Given the description of an element on the screen output the (x, y) to click on. 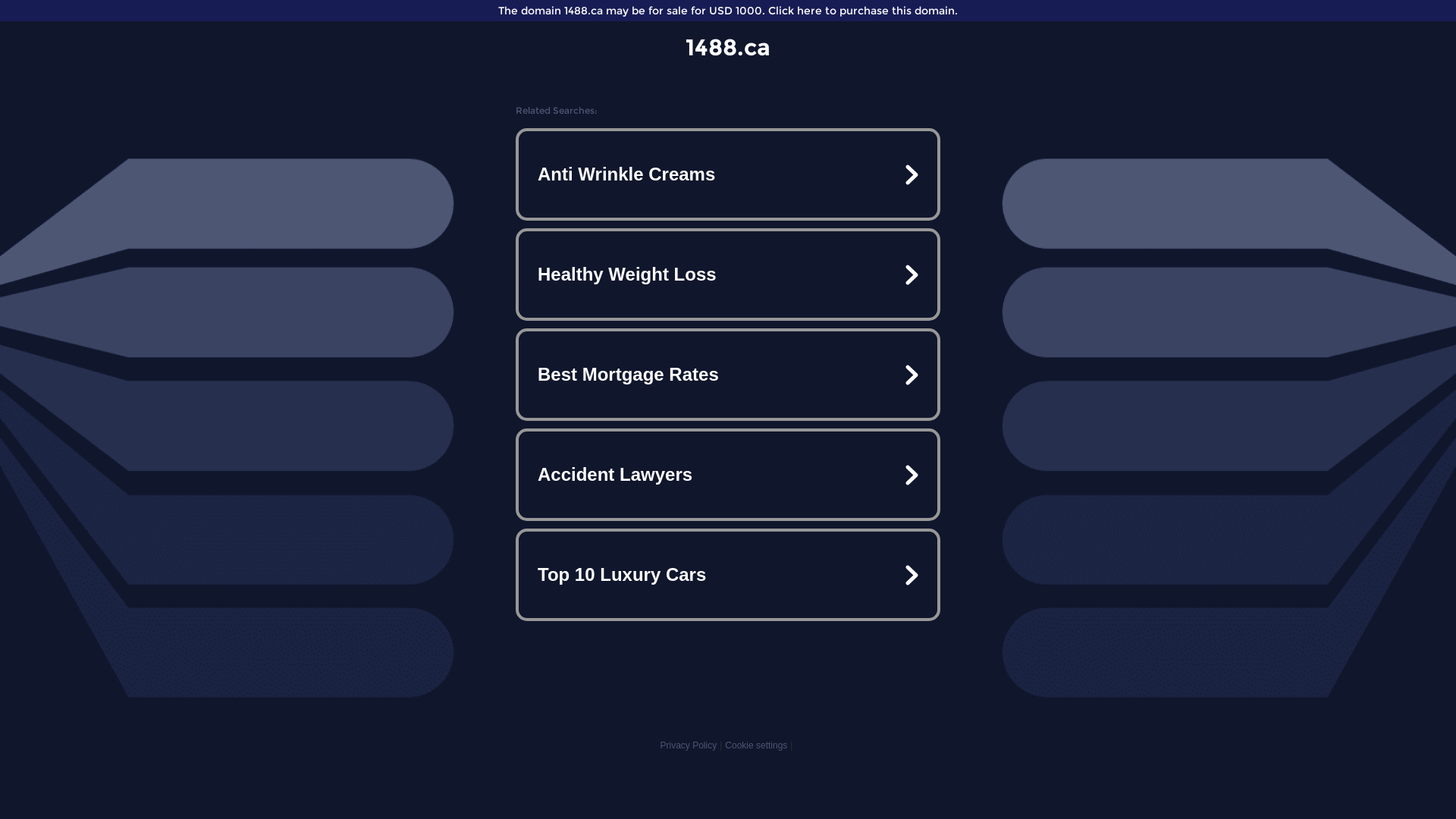
Best Mortgage Rates Element type: text (727, 374)
Accident Lawyers Element type: text (727, 474)
Privacy Policy Element type: text (687, 745)
Anti Wrinkle Creams Element type: text (727, 174)
Healthy Weight Loss Element type: text (727, 274)
Top 10 Luxury Cars Element type: text (727, 574)
Cookie settings Element type: text (755, 745)
1488.ca Element type: text (727, 47)
